Given the description of an element on the screen output the (x, y) to click on. 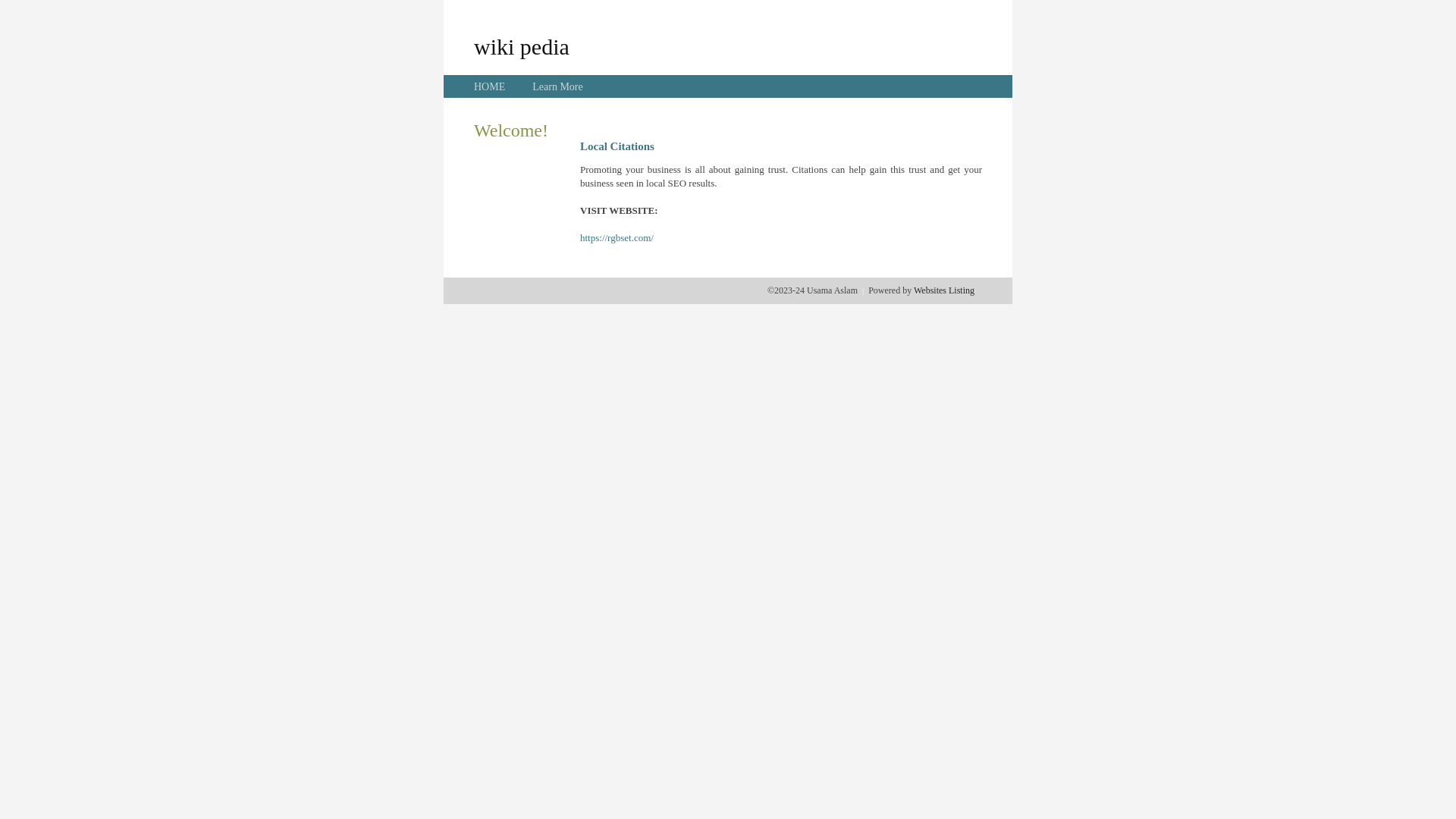
Websites Listing Element type: text (943, 290)
https://rgbset.com/ Element type: text (616, 237)
HOME Element type: text (489, 86)
Learn More Element type: text (557, 86)
wiki pedia Element type: text (521, 46)
